Given the description of an element on the screen output the (x, y) to click on. 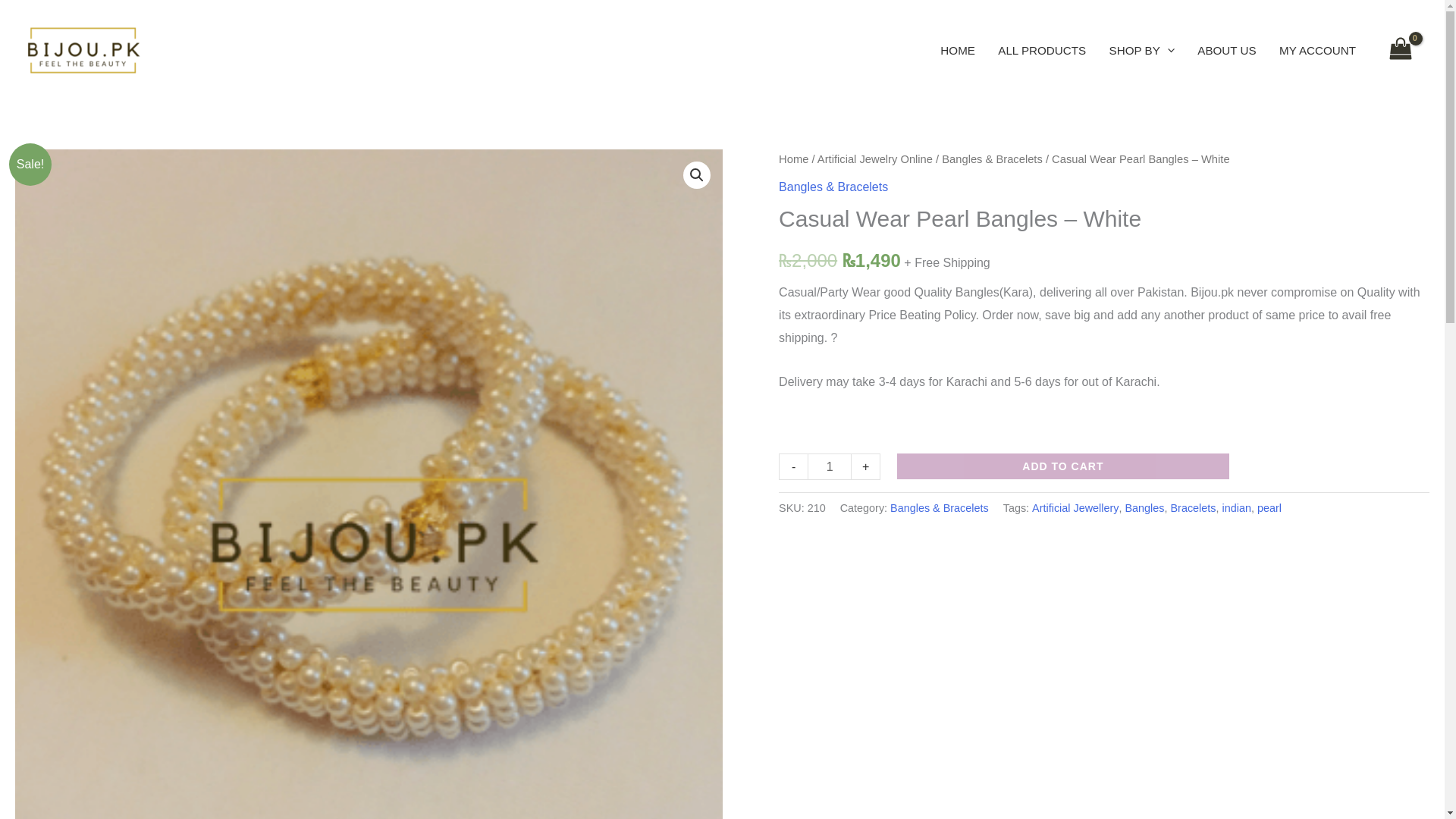
MY ACCOUNT (1317, 50)
Bracelets (1192, 508)
ADD TO CART (1062, 466)
SHOP BY (1141, 50)
Artificial Jewelry Online (874, 159)
Artificial Jewellery (1075, 508)
ABOUT US (1227, 50)
ALL PRODUCTS (1042, 50)
1 (829, 466)
Home (793, 159)
